Given the description of an element on the screen output the (x, y) to click on. 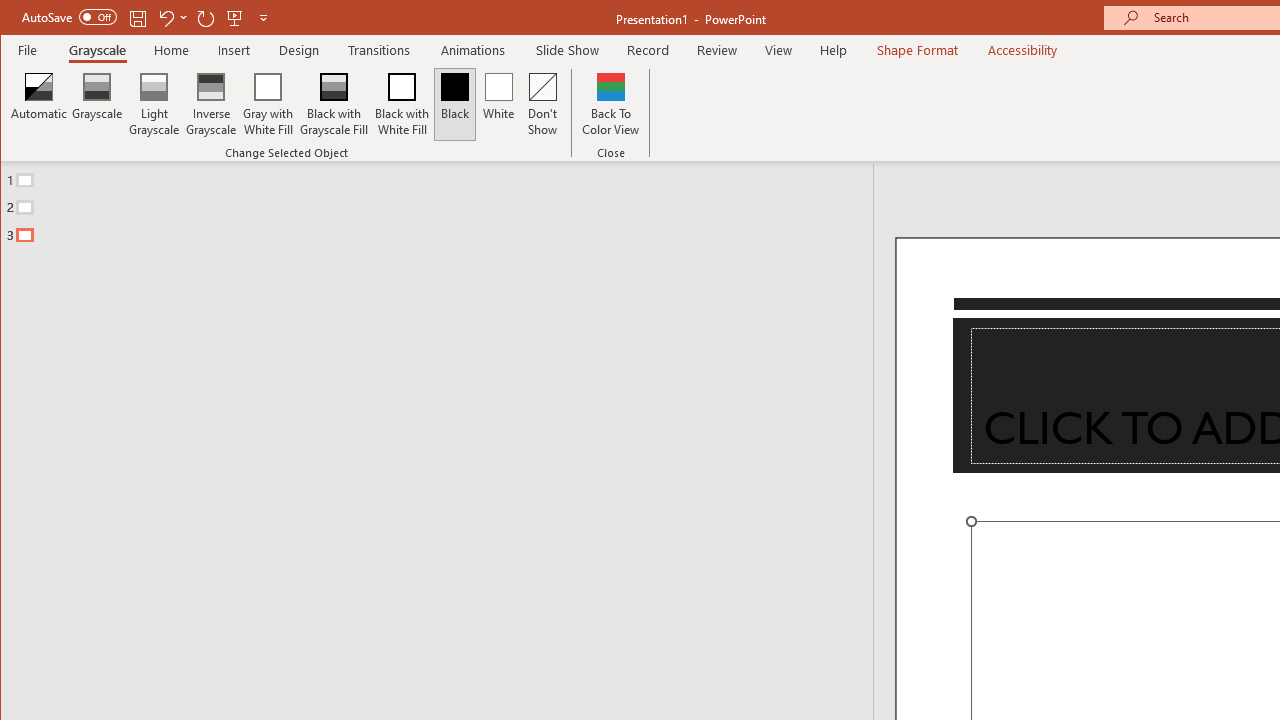
Back To Color View (610, 104)
Black with White Fill (402, 104)
More Options (183, 17)
AutoSave (68, 16)
Automatic (39, 104)
Insert (233, 50)
From Beginning (235, 17)
Black (454, 104)
Animations (473, 50)
Don't Show (543, 104)
Customize Quick Access Toolbar (263, 17)
Quick Access Toolbar (146, 17)
Light Grayscale (153, 104)
White (498, 104)
Grayscale (97, 50)
